Given the description of an element on the screen output the (x, y) to click on. 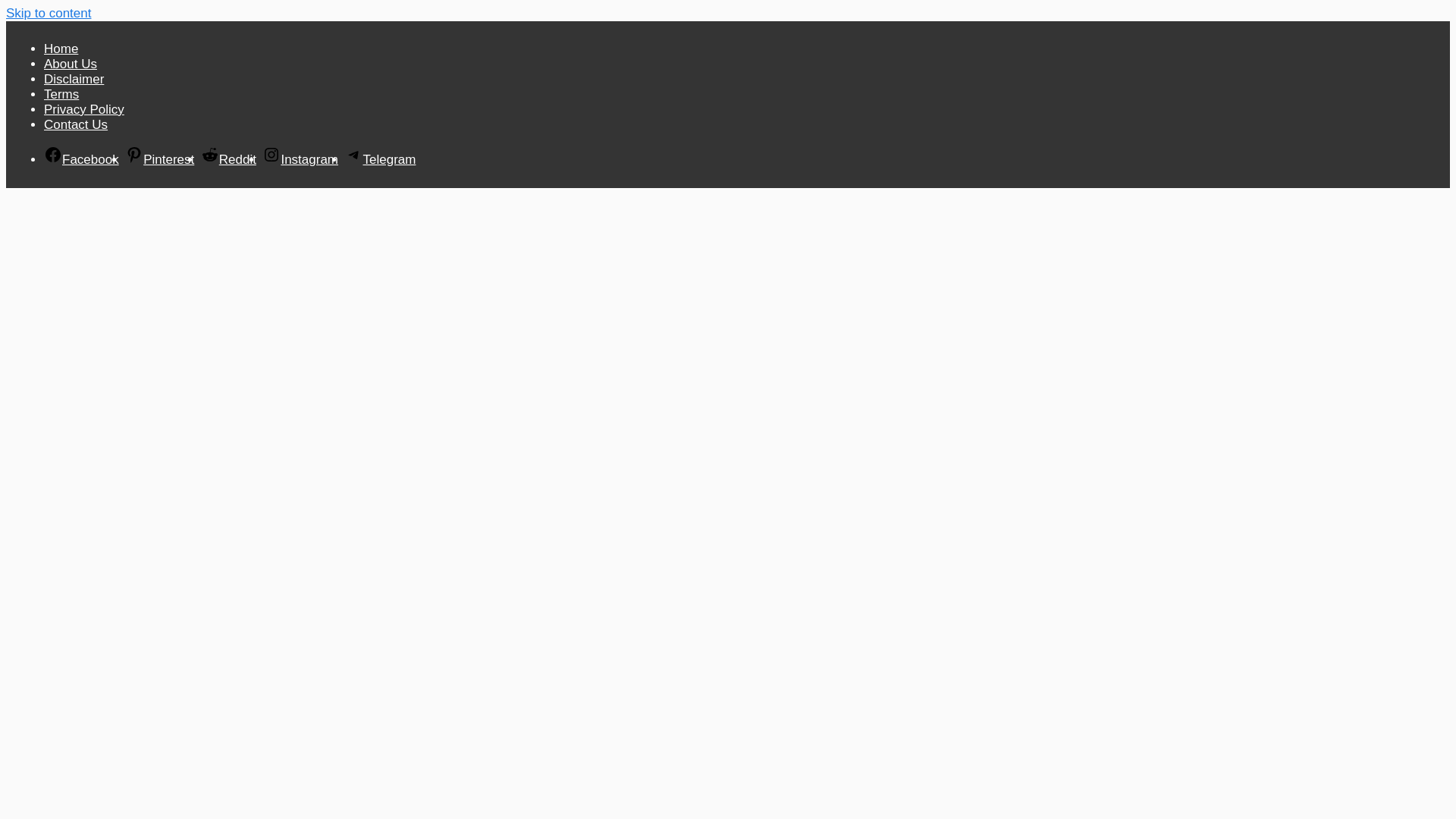
Home (309, 24)
Things To Do (566, 169)
Story Archives (716, 169)
Disclaimer (414, 24)
View all posts by Jullian (392, 645)
Blog (640, 169)
Facebook (987, 21)
Pinterest (1023, 21)
Terms (465, 24)
Instagram (1096, 21)
